Given the description of an element on the screen output the (x, y) to click on. 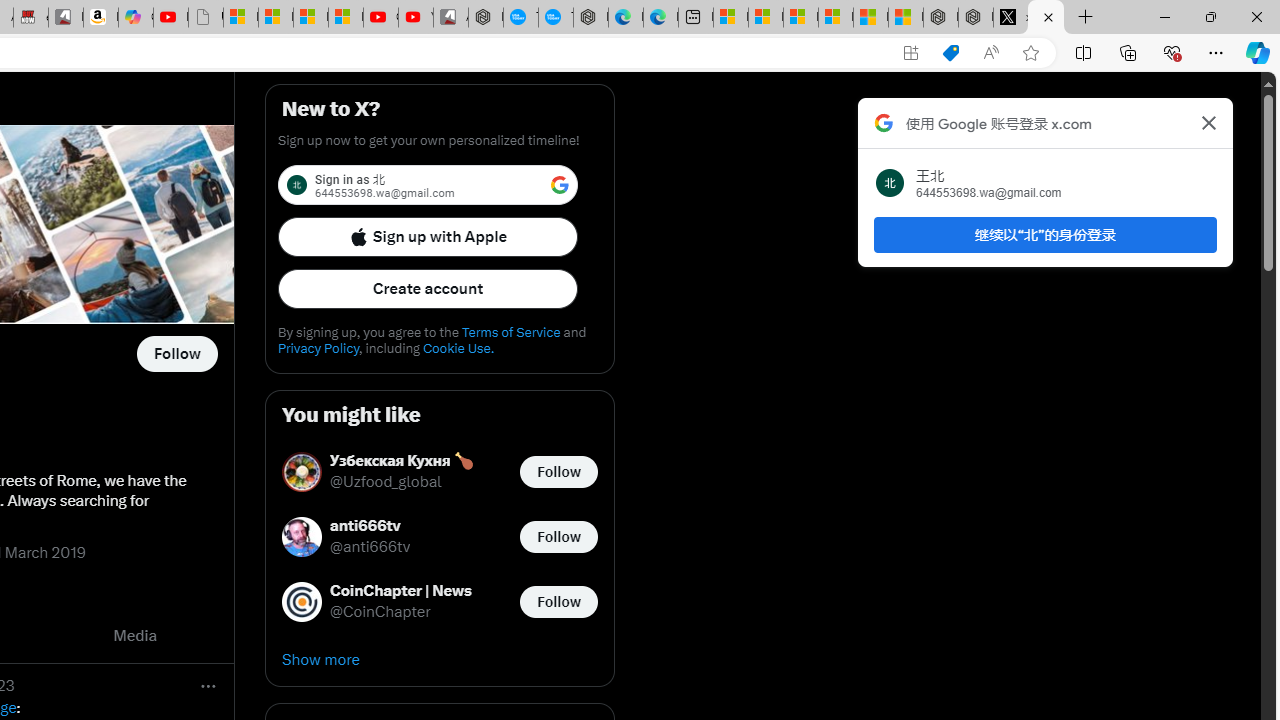
Create account (427, 288)
Sign up with Apple (427, 236)
Next (212, 636)
Follow @anti666tv (558, 535)
@Uzfood_global (386, 482)
Copilot (136, 17)
CoinChapter | News @CoinChapter Follow @CoinChapter (440, 601)
CoinChapter | News (401, 592)
Show more (440, 660)
